Given the description of an element on the screen output the (x, y) to click on. 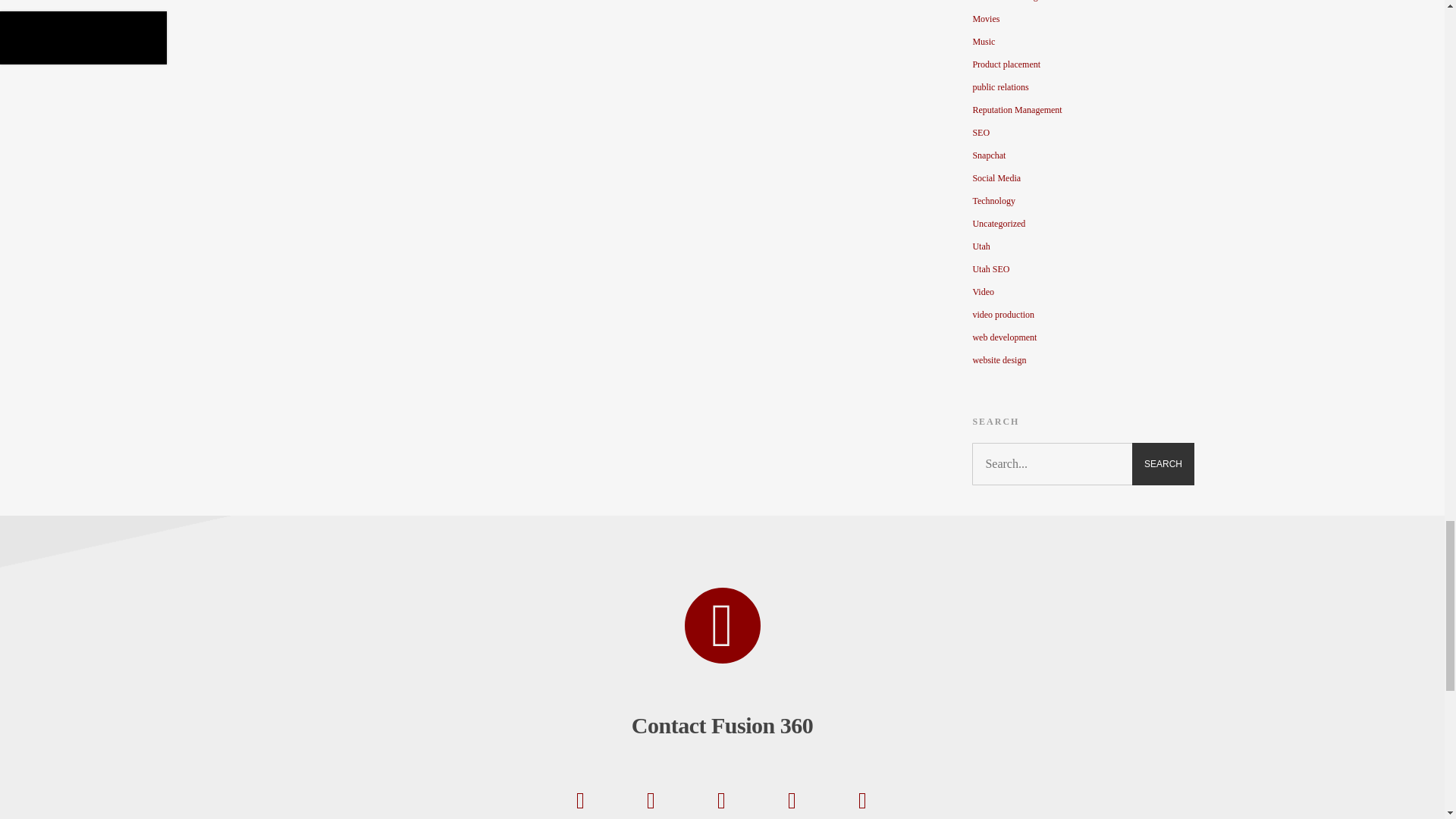
Search (1162, 464)
Search for: (1082, 464)
Search (1162, 464)
